Given the description of an element on the screen output the (x, y) to click on. 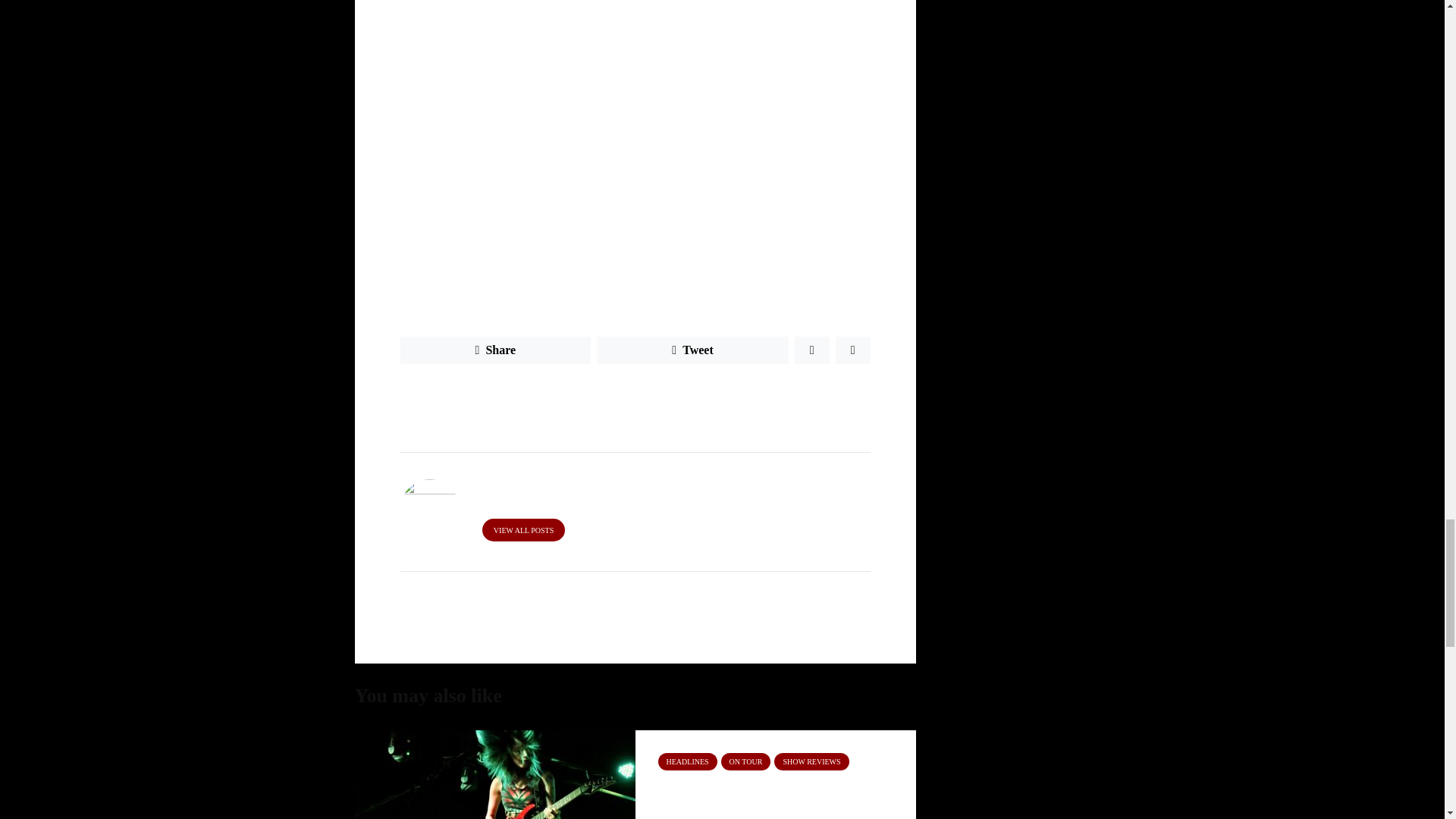
ON TOUR (745, 761)
Show (588, 397)
2012 (418, 397)
Share (495, 349)
Eyes Set to Kill makes their return to the Borderland (778, 798)
VIEW ALL POSTS (522, 529)
David Huff (471, 397)
winstar (751, 397)
Tweet (692, 349)
SHOW REVIEWS (811, 761)
Oklahoma (534, 397)
sting' (706, 397)
show reviews (647, 397)
HEADLINES (687, 761)
